Given the description of an element on the screen output the (x, y) to click on. 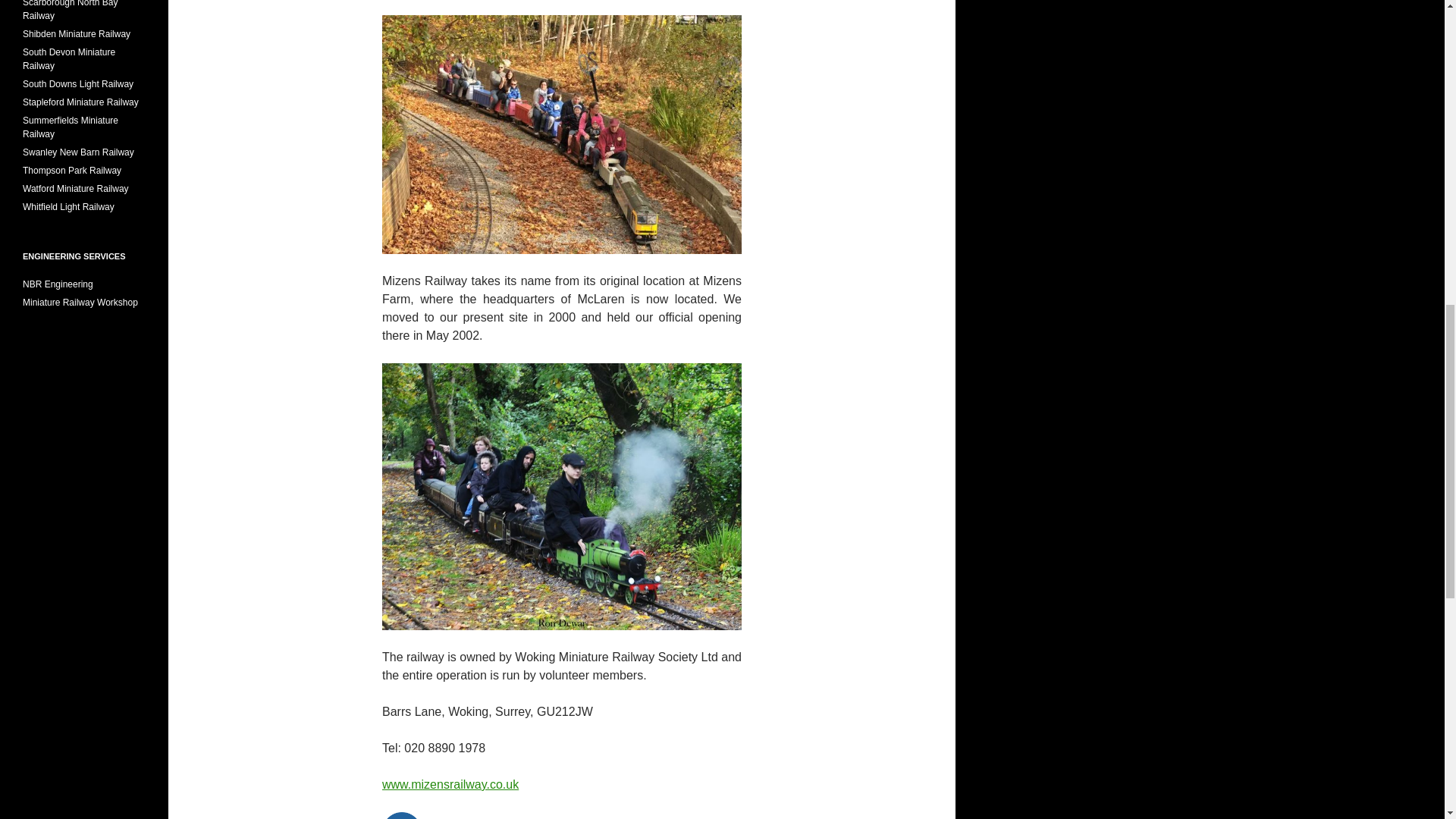
www.mizensrailway.co.uk (449, 784)
